Given the description of an element on the screen output the (x, y) to click on. 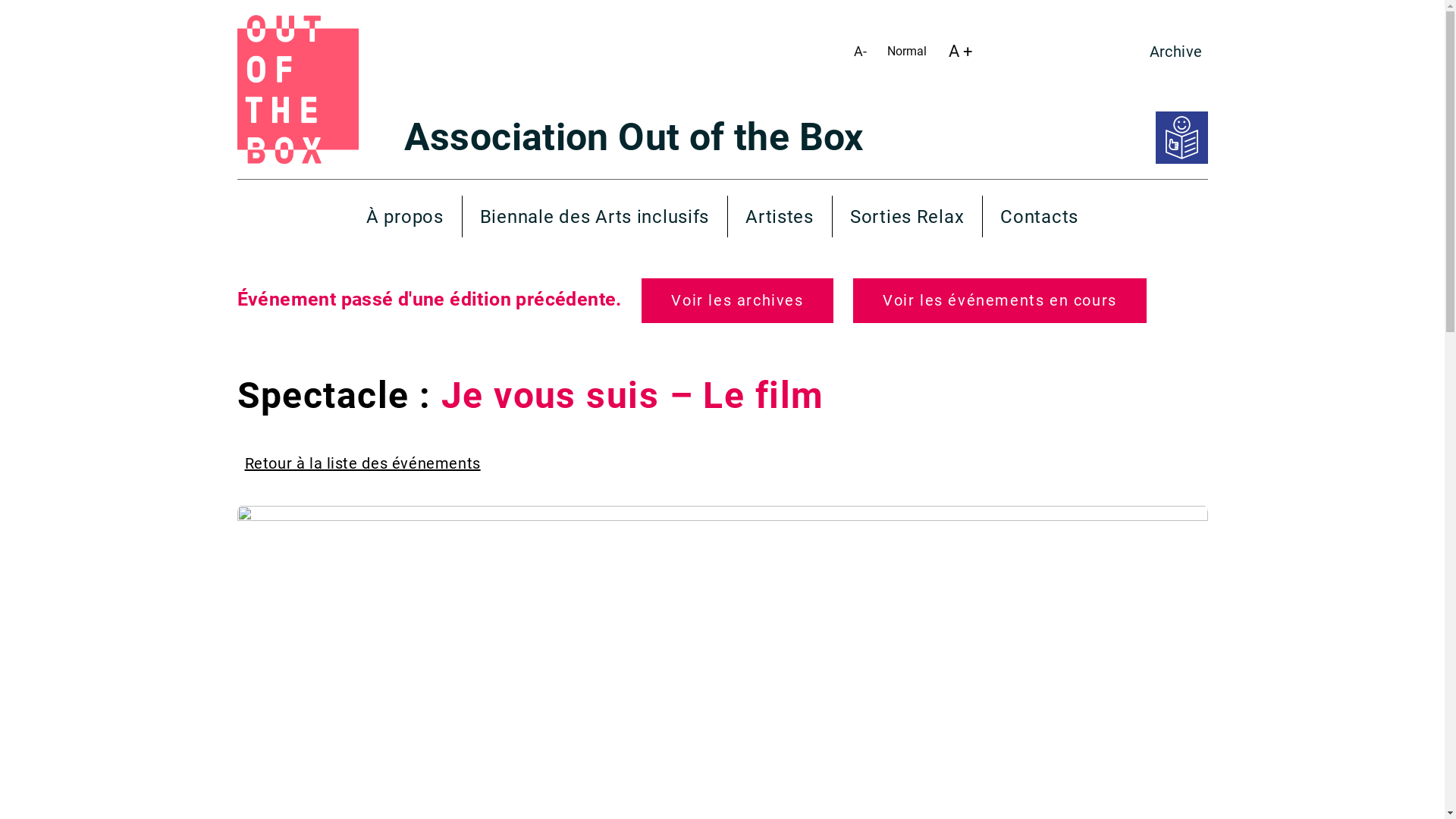
Sorties Relax Element type: text (906, 216)
Contacts Element type: text (1039, 216)
A-
Diminuer la taille du texte Element type: text (859, 51)
Artistes Element type: text (779, 216)
Biennale des Arts inclusifs Element type: text (594, 216)
Voir les archives Element type: text (736, 300)
Archive Element type: text (1176, 51)
Association Out of the Box Element type: text (632, 137)
A +
Augmenter la taille du texte Element type: text (960, 51)
